Given the description of an element on the screen output the (x, y) to click on. 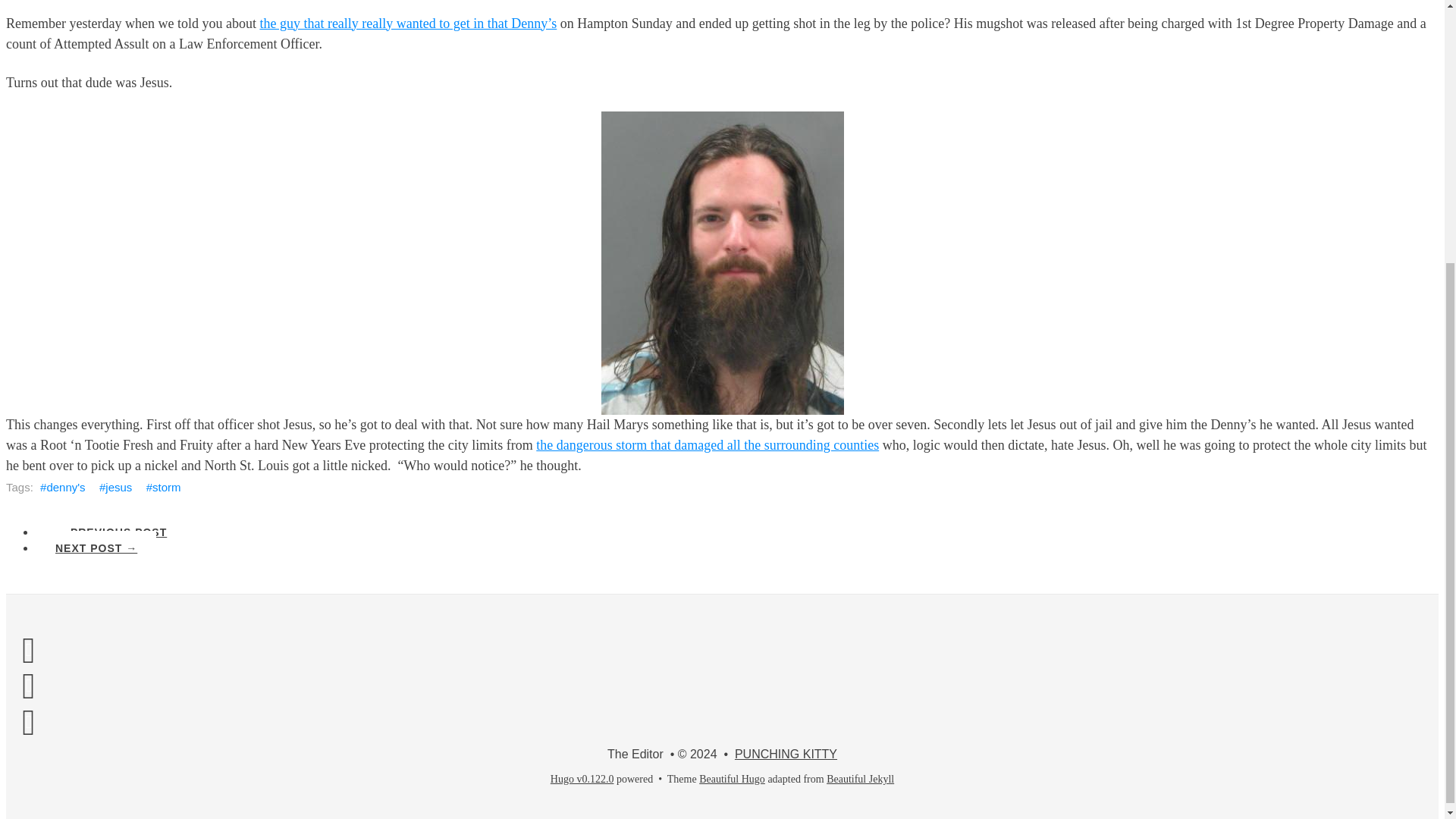
storm (163, 486)
Beautiful Jekyll (860, 778)
Beautiful Hugo (731, 778)
Hugo v0.122.0 (582, 778)
PUNCHING KITTY (786, 753)
denny's (62, 486)
jesus (115, 486)
RSS (27, 721)
Twitter (27, 685)
Facebook (27, 648)
